Given the description of an element on the screen output the (x, y) to click on. 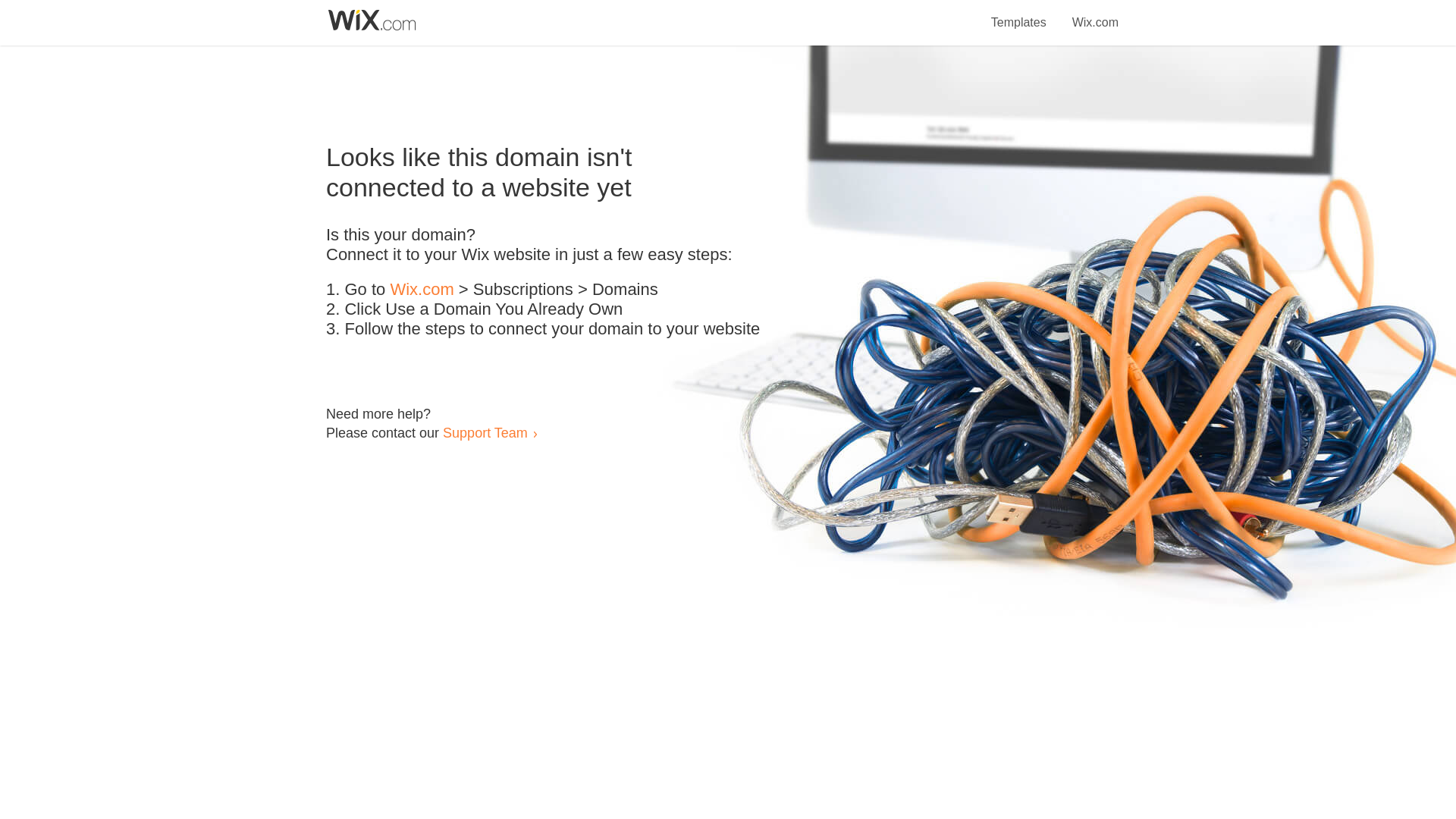
Templates (1018, 14)
Support Team (484, 432)
Wix.com (421, 289)
Wix.com (1095, 14)
